Given the description of an element on the screen output the (x, y) to click on. 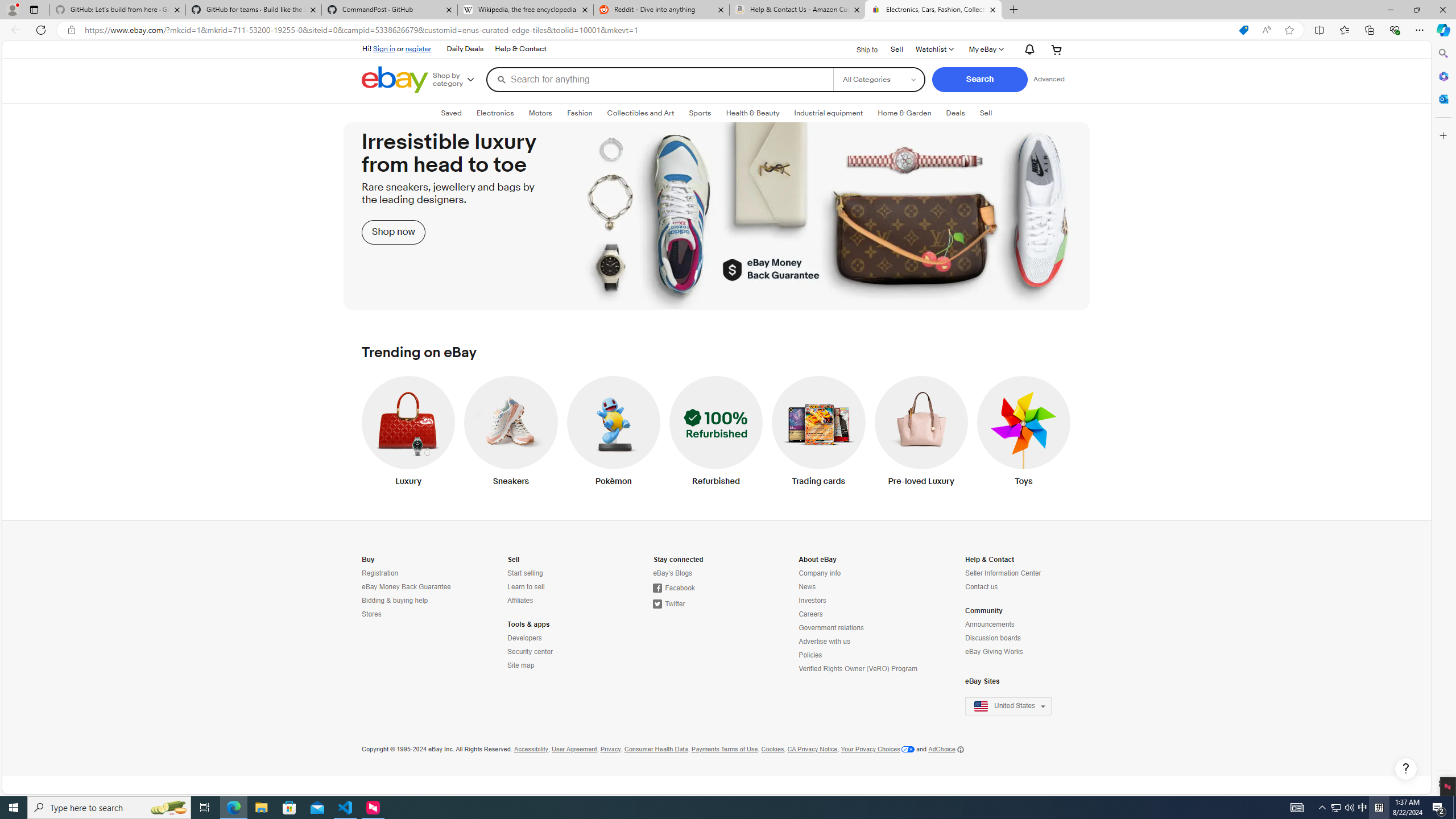
Bidding & buying help (394, 600)
eBay's Blogs (703, 573)
Electronics (494, 112)
Buy (367, 559)
Careers (858, 614)
Stores (371, 614)
Investors (858, 600)
Twitter (668, 604)
FashionExpand: Fashion (579, 112)
Motors (540, 112)
Help & Contact (989, 559)
Saved (450, 112)
